Given the description of an element on the screen output the (x, y) to click on. 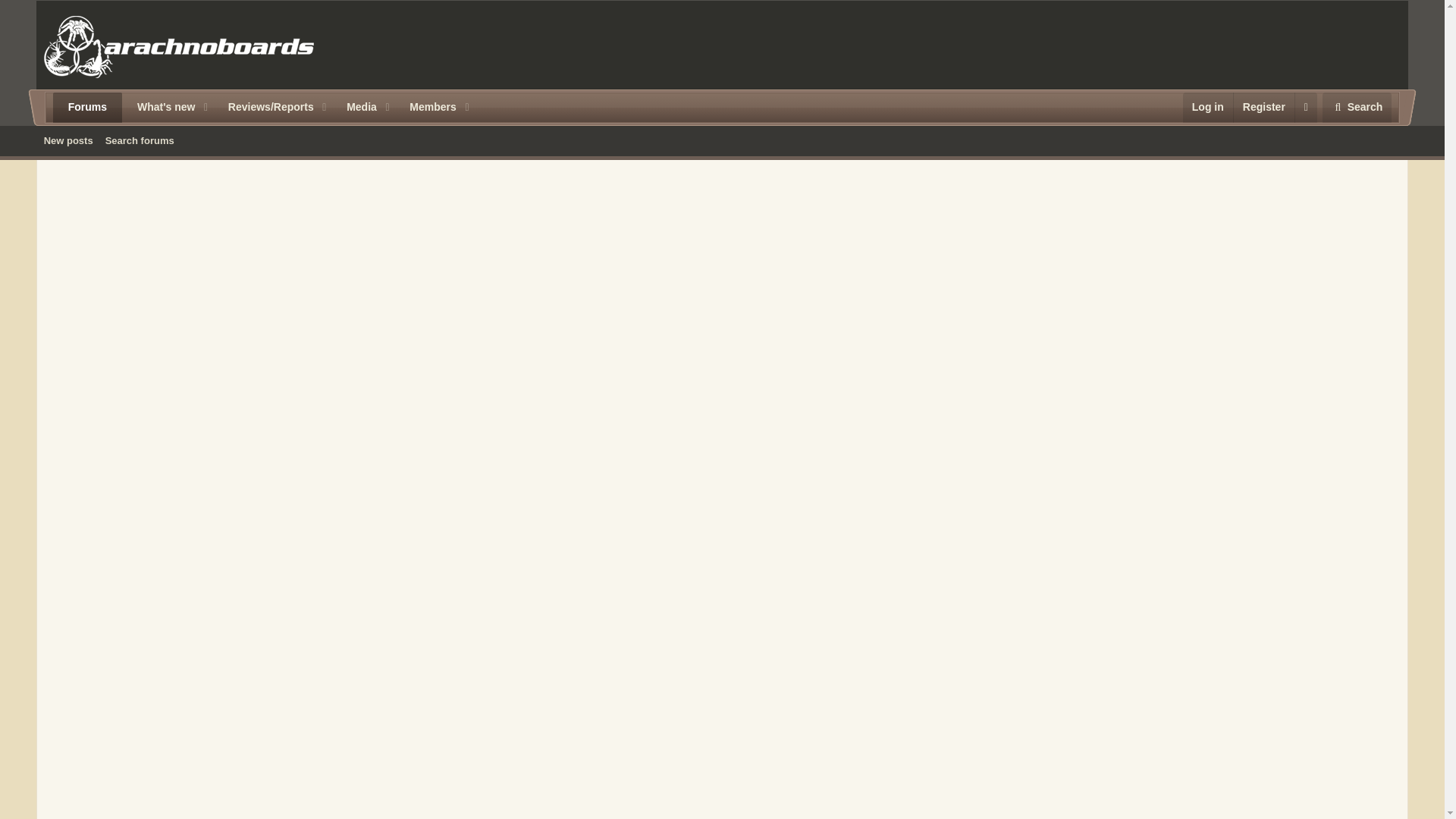
Media (355, 107)
Forums (87, 107)
What's new (160, 107)
Register (1263, 107)
New posts (68, 140)
Log in (722, 140)
Search (1207, 107)
Search forums (1356, 107)
Members (139, 140)
